Given the description of an element on the screen output the (x, y) to click on. 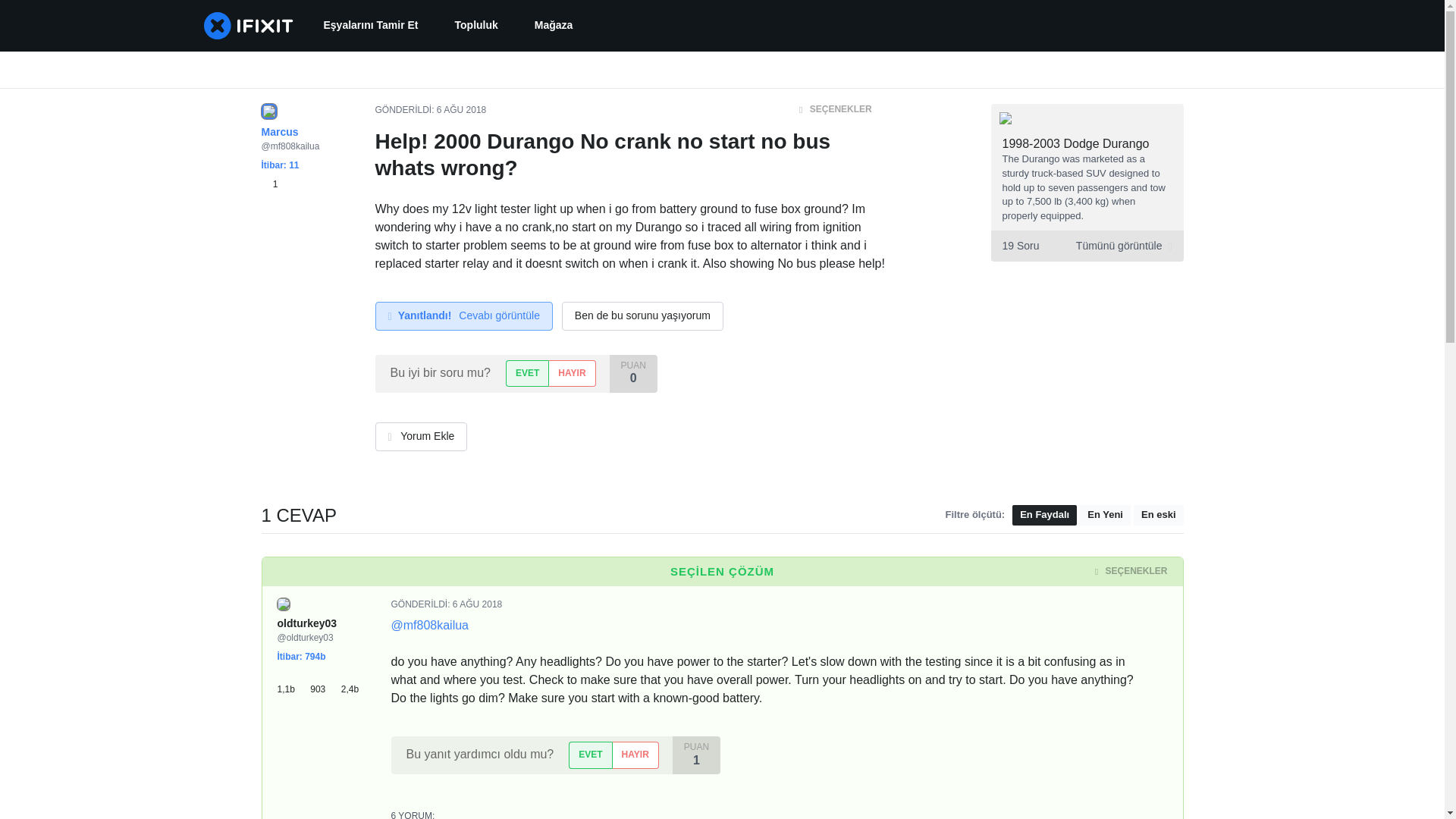
EVET (526, 373)
En eski (1158, 515)
EVET (590, 755)
1,1b 903 2,4b (323, 683)
Yorum Ekle (420, 436)
1171 Bronz rozeti (294, 683)
1998-2003 Dodge Durango (1076, 143)
1 Bronz rozeti (269, 184)
Mon, 06 Aug 2018 13:07:04 -0700 (461, 109)
HAYIR (571, 373)
